Given the description of an element on the screen output the (x, y) to click on. 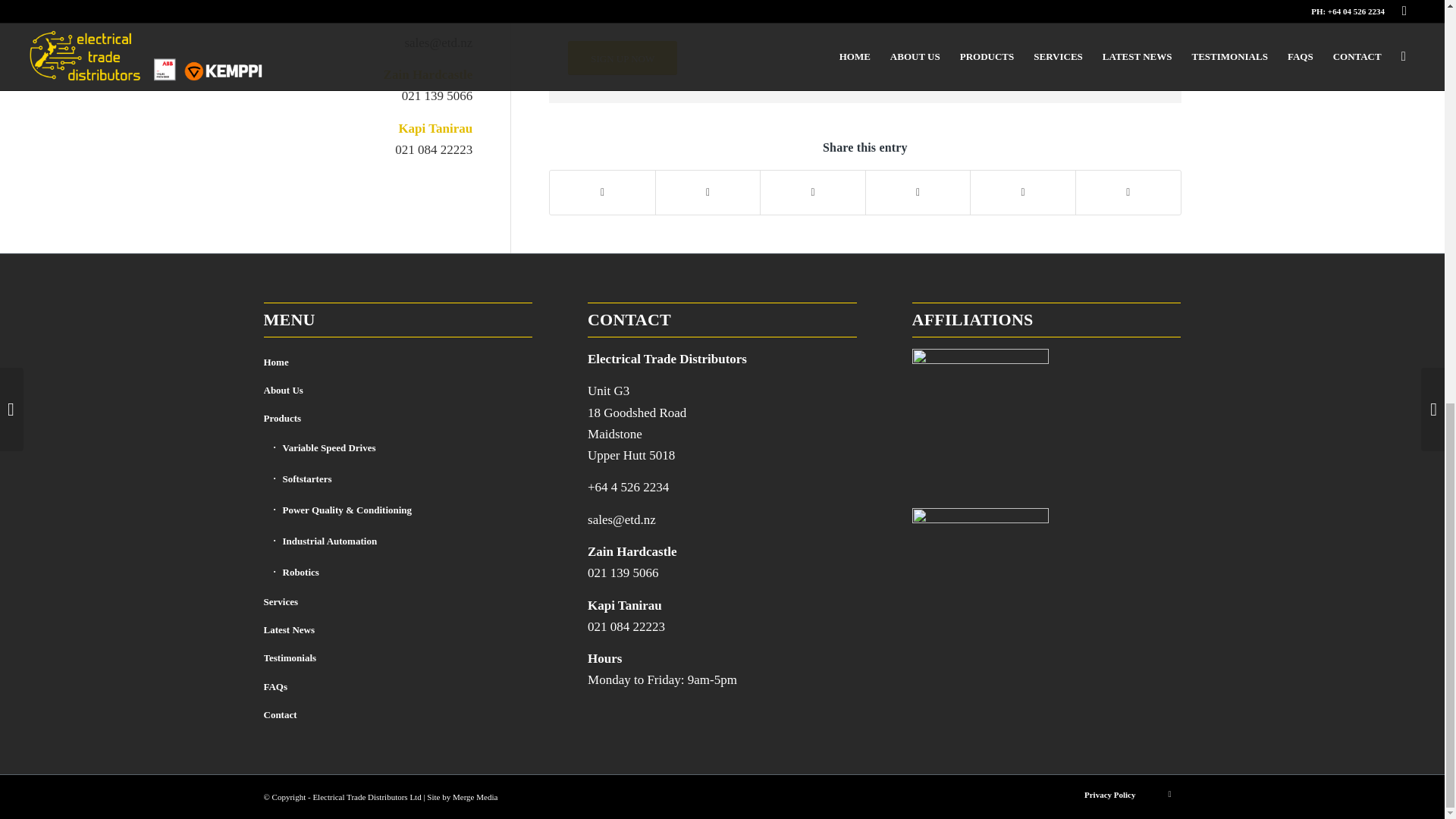
AFFILIATIONS (980, 416)
SIGN UP NOW (622, 58)
LinkedIn (1169, 793)
